Given the description of an element on the screen output the (x, y) to click on. 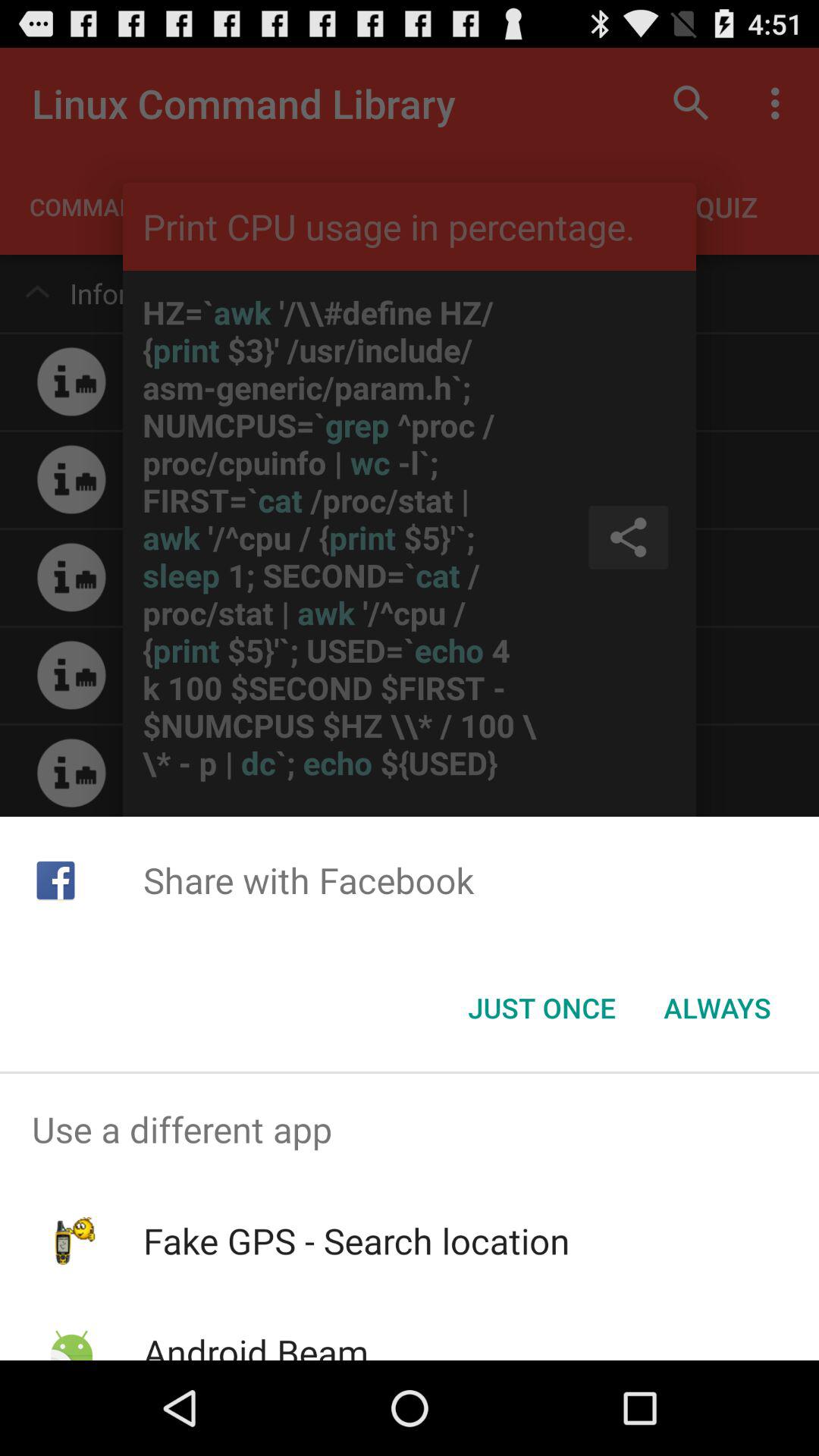
scroll until the fake gps search icon (356, 1240)
